Given the description of an element on the screen output the (x, y) to click on. 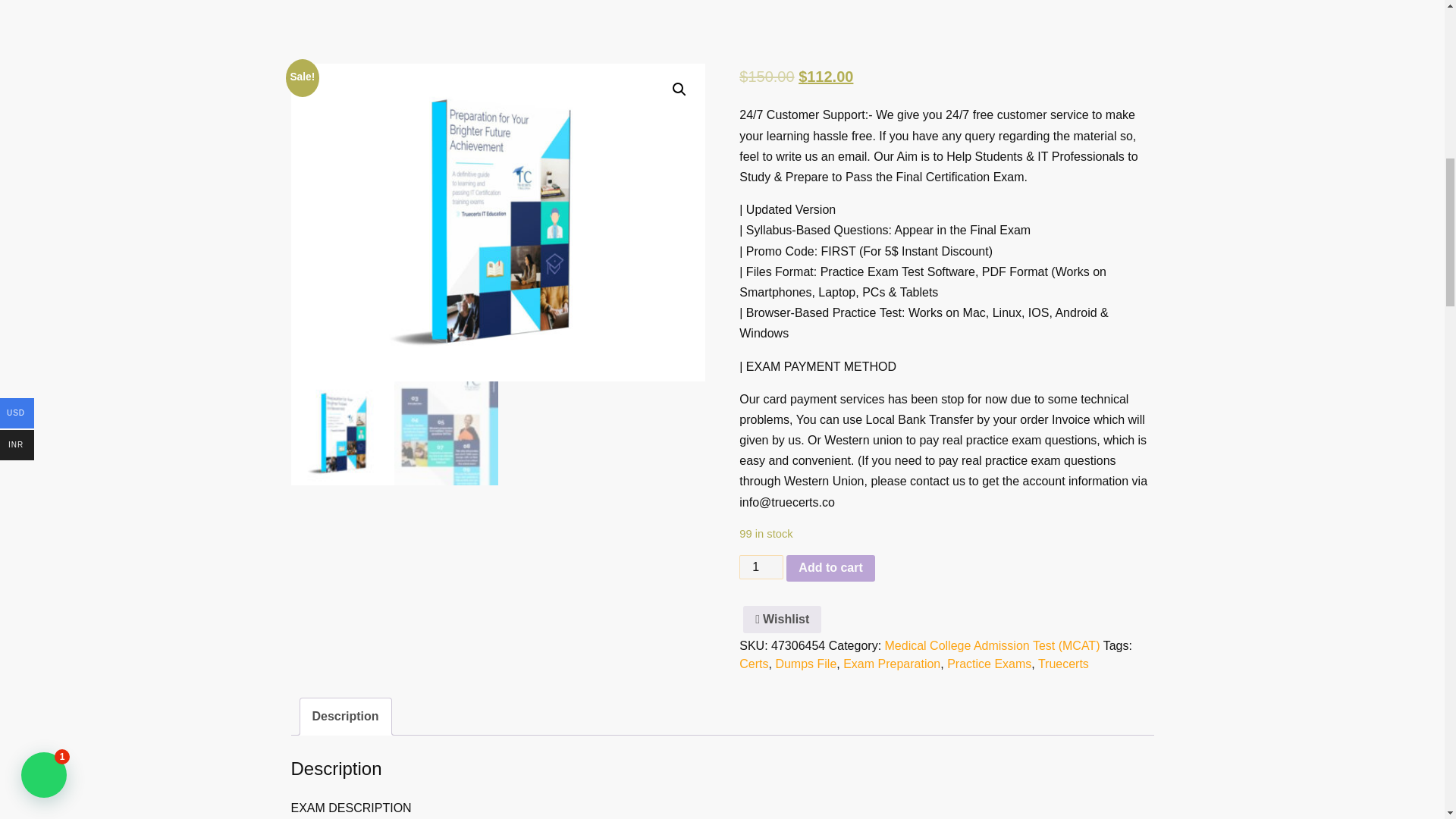
Truecerts (1063, 663)
1657722267 (497, 222)
Exam Preparation (891, 663)
Description (345, 716)
Add to cart (830, 568)
1 (761, 567)
Wishlist (781, 619)
Certs (753, 663)
Practice Exams (988, 663)
Dumps File (804, 663)
